Given the description of an element on the screen output the (x, y) to click on. 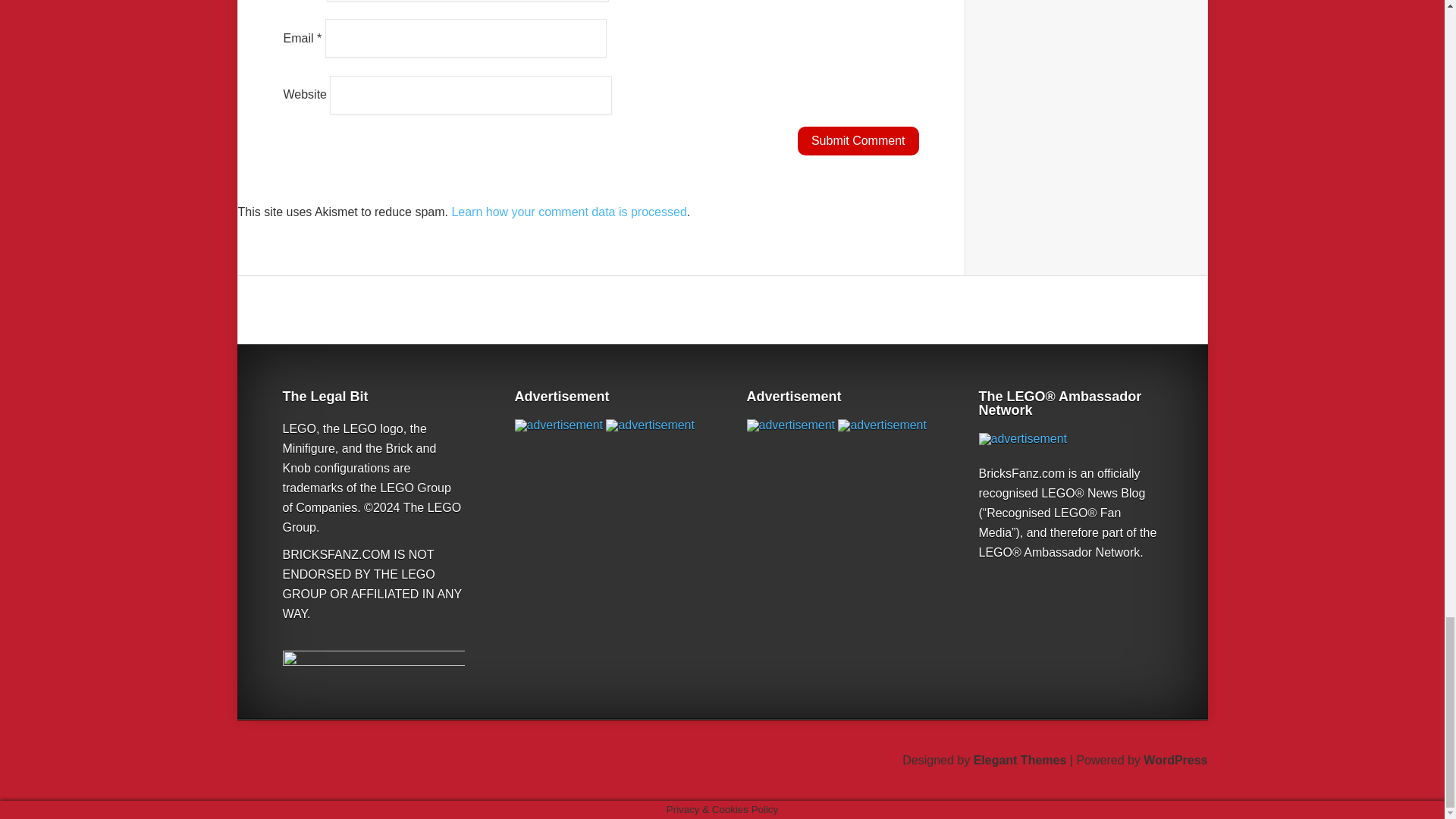
advertisement (557, 425)
Submit Comment (857, 140)
advertisement (789, 425)
Premium WordPress Themes (1020, 759)
advertisement (882, 425)
advertisement (649, 425)
advertisement (1022, 439)
